Given the description of an element on the screen output the (x, y) to click on. 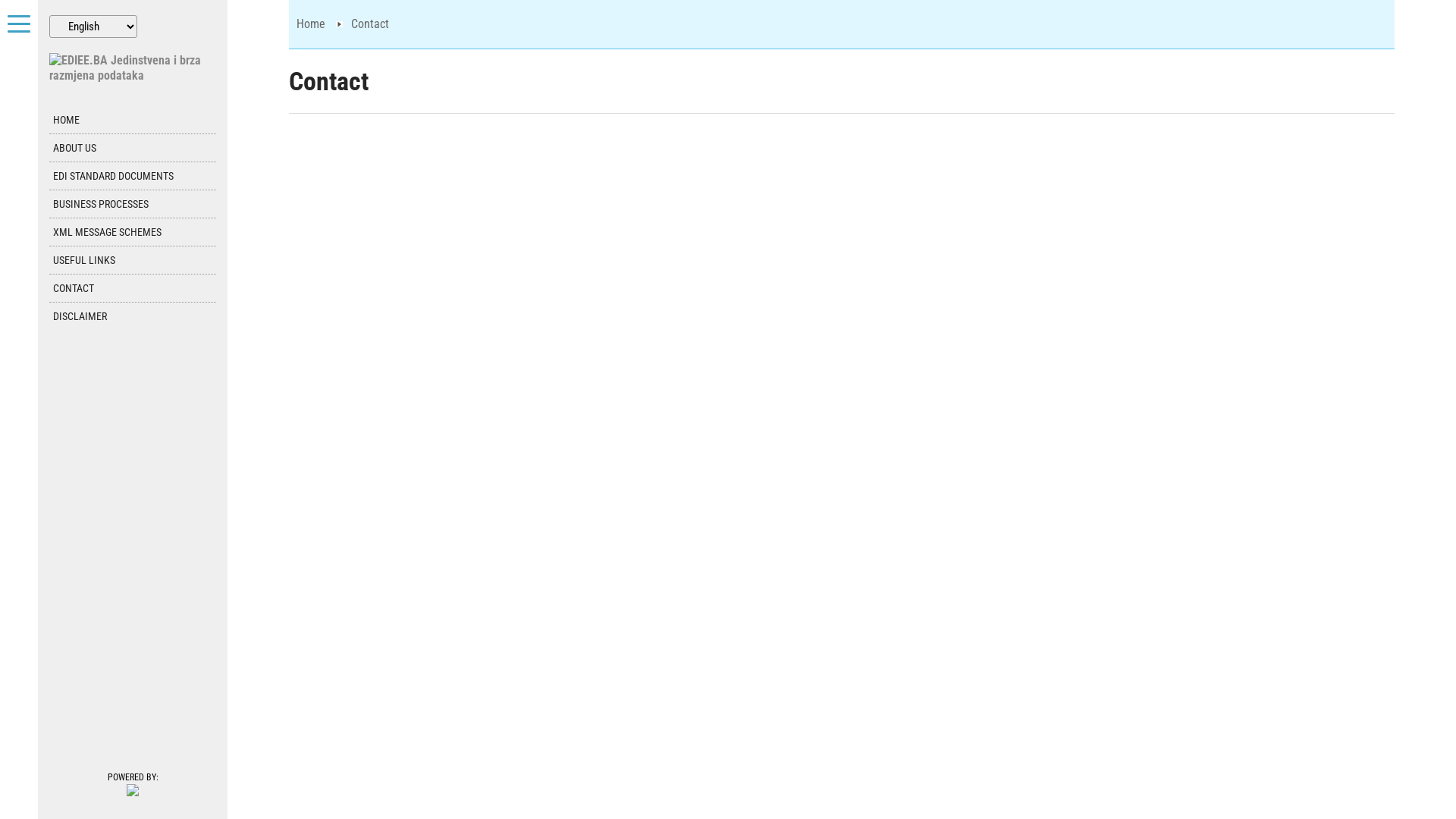
Fullscreen Element type: hover (18, 26)
HOME Element type: text (134, 119)
DISCLAIMER Element type: text (134, 315)
CONTACT Element type: text (134, 287)
USEFUL LINKS Element type: text (134, 259)
EDI STANDARD DOCUMENTS Element type: text (134, 175)
Home Element type: text (310, 23)
BUSINESS PROCESSES Element type: text (134, 203)
